Given the description of an element on the screen output the (x, y) to click on. 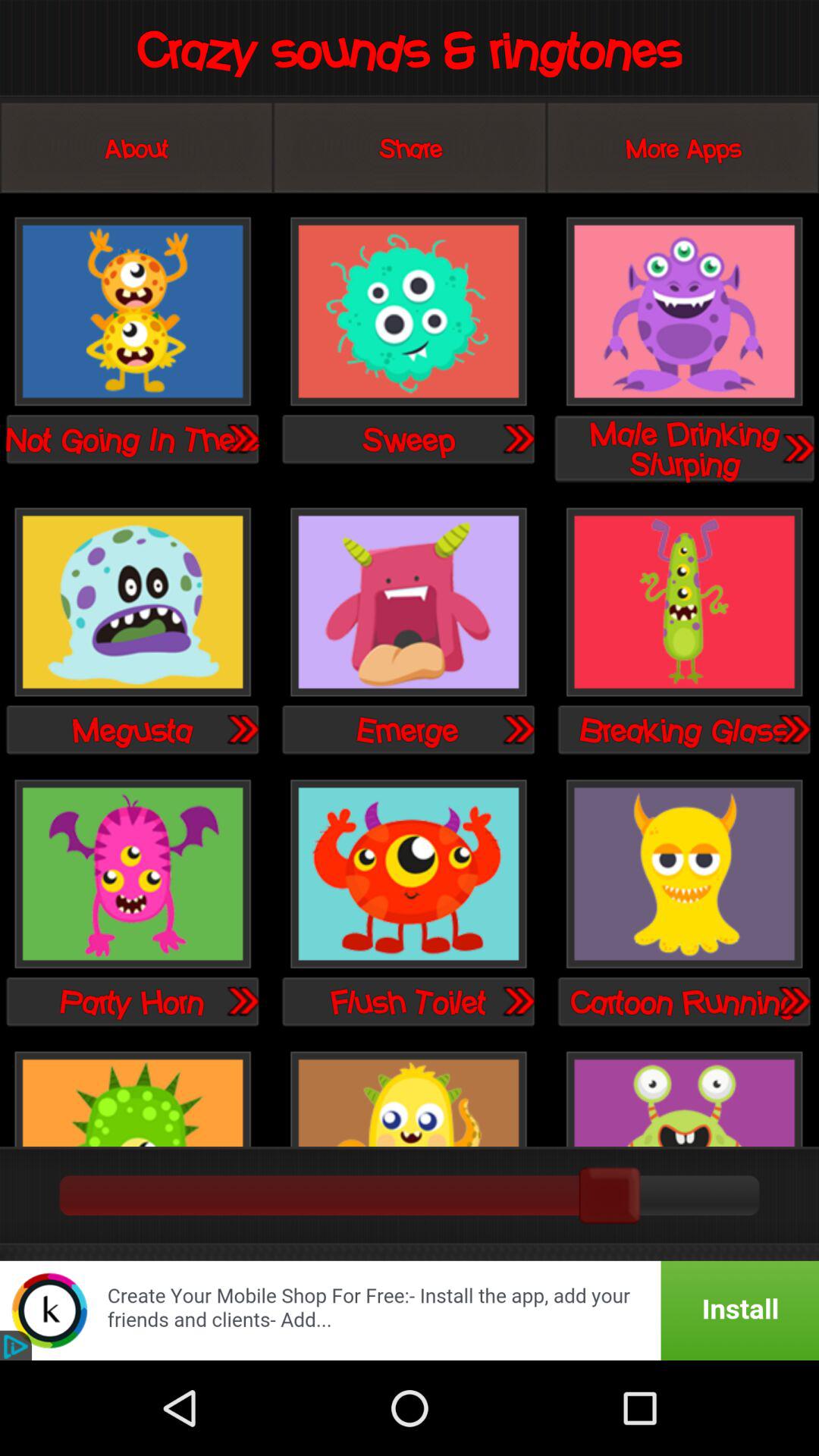
on this button you see another sound option (242, 1000)
